Given the description of an element on the screen output the (x, y) to click on. 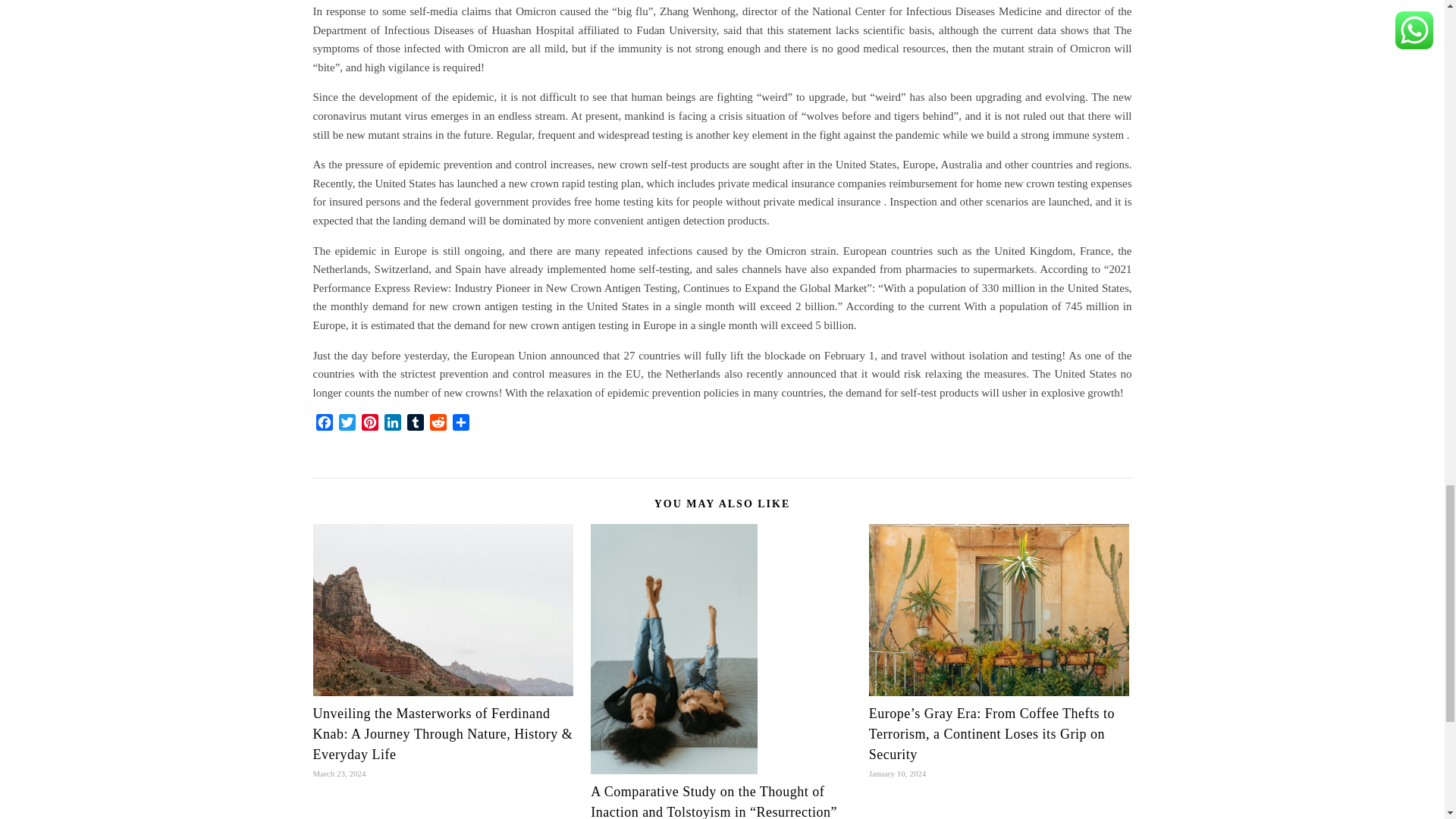
Facebook (323, 424)
LinkedIn (391, 424)
Reddit (437, 424)
Pinterest (369, 424)
Tumblr (414, 424)
Facebook (323, 424)
Twitter (346, 424)
Tumblr (414, 424)
LinkedIn (391, 424)
Reddit (437, 424)
